Given the description of an element on the screen output the (x, y) to click on. 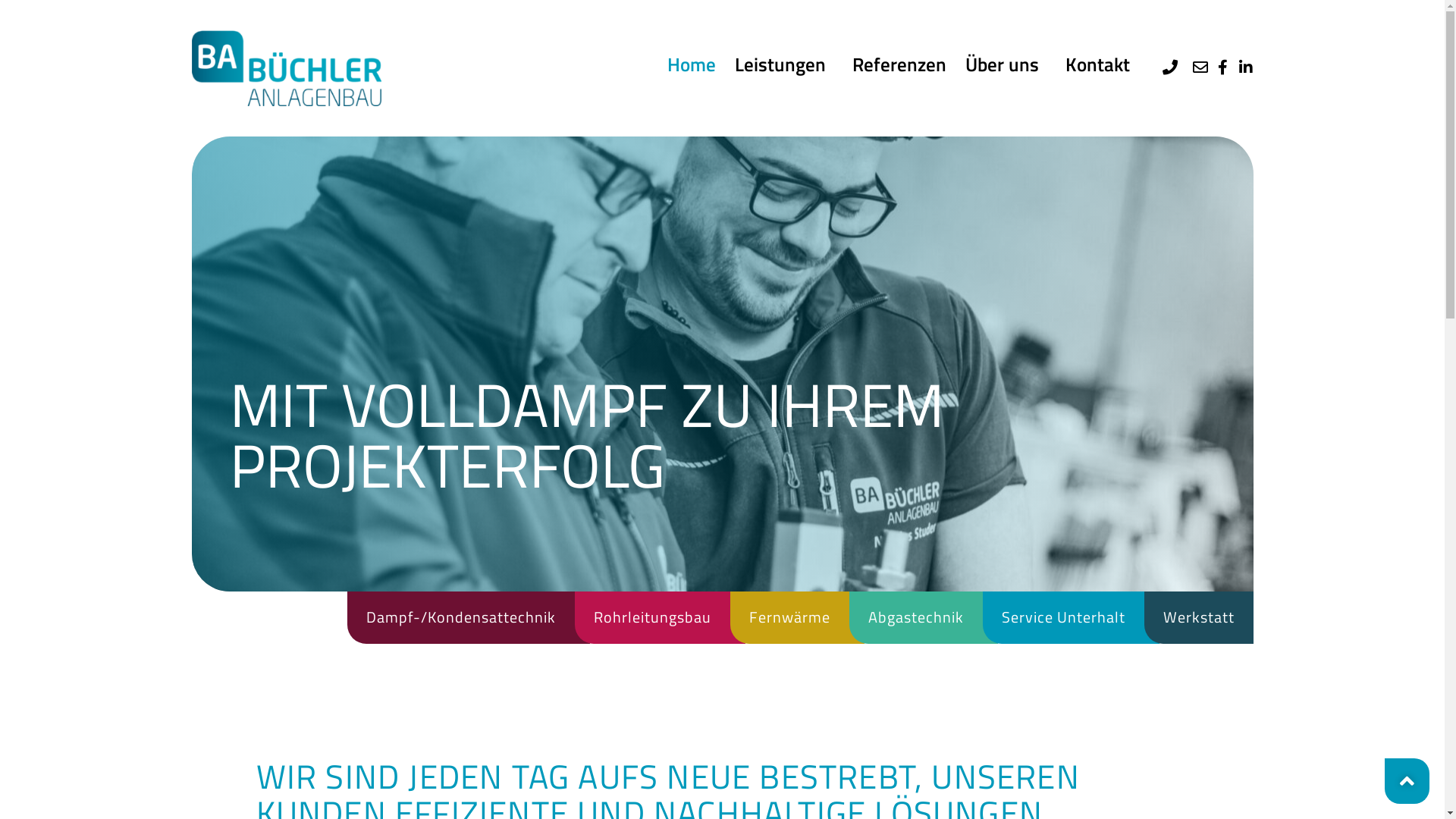
Abgastechnik Element type: text (915, 616)
Referenzen Element type: text (899, 64)
Rohrleitungsbau Element type: text (651, 616)
Werkstatt Element type: text (1198, 616)
Service Unterhalt Element type: text (1062, 616)
Home Element type: text (691, 64)
Dampf-/Kondensattechnik Element type: text (460, 616)
Kontakt Element type: text (1096, 64)
Leistungen Element type: text (783, 64)
